Given the description of an element on the screen output the (x, y) to click on. 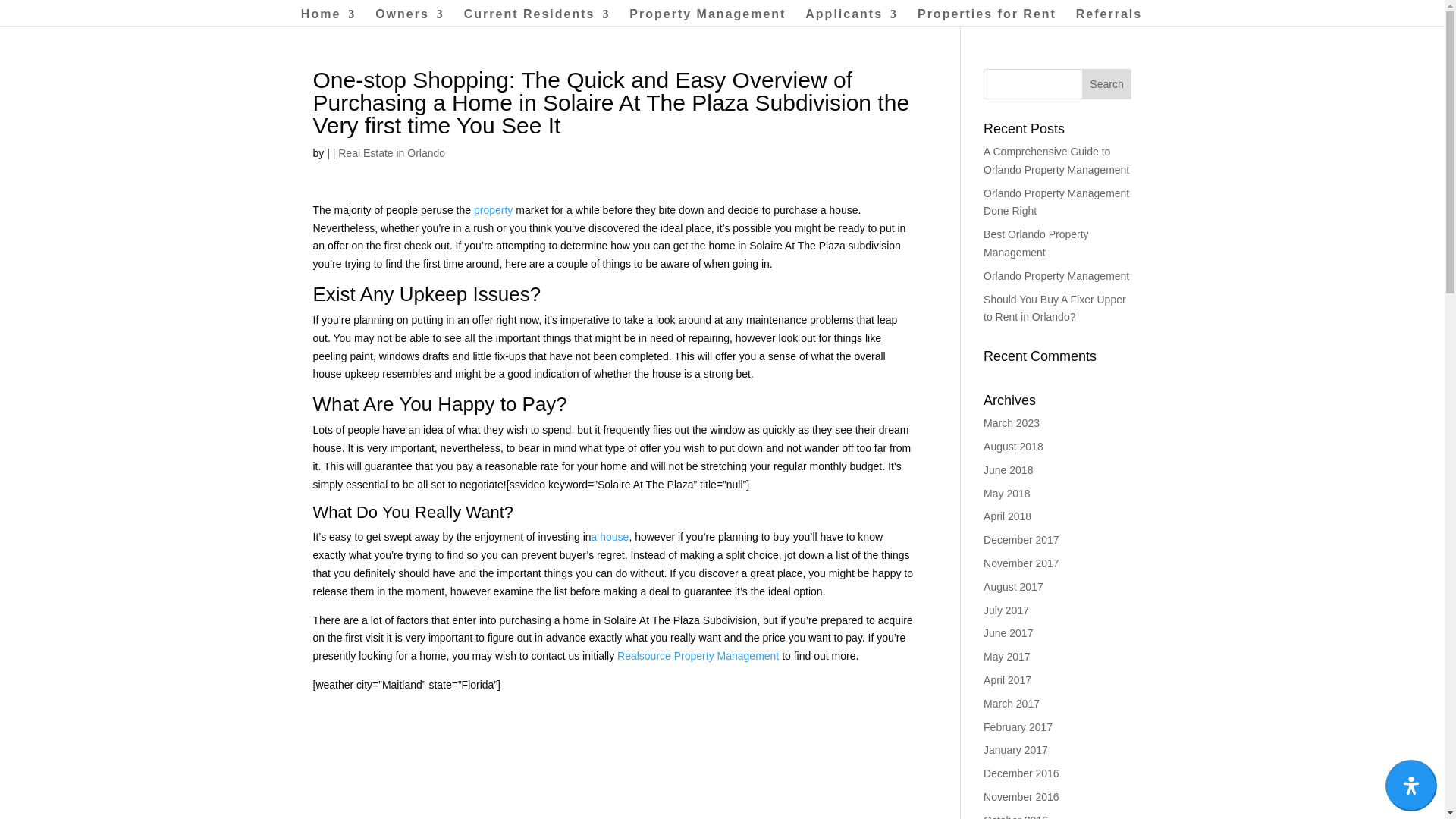
Current Residents (537, 17)
Properties for Rent (987, 17)
Applicants (851, 17)
Search (1106, 83)
Owners (409, 17)
Property Management (707, 17)
Referrals (1108, 17)
Home (328, 17)
